Given the description of an element on the screen output the (x, y) to click on. 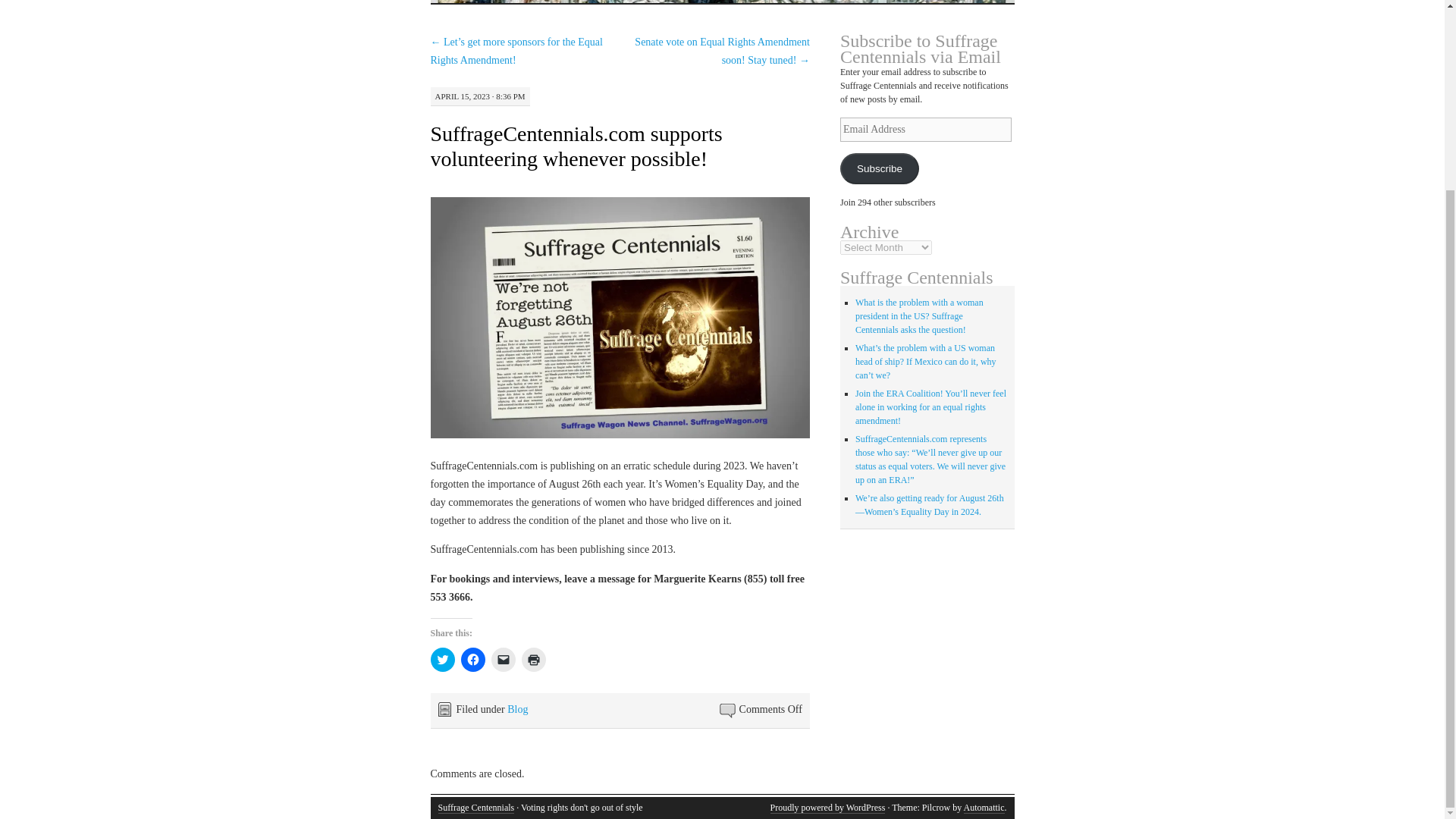
Click to share on Twitter (442, 659)
A Semantic Personal Publishing Platform (827, 808)
Proudly powered by WordPress (827, 808)
Suffrage Centennials (476, 808)
Automattic (983, 808)
Suffrage Centennials (476, 808)
Subscribe (879, 168)
Click to share on Facebook (472, 659)
Click to email a link to a friend (503, 659)
Click to print (533, 659)
Blog (516, 708)
